Given the description of an element on the screen output the (x, y) to click on. 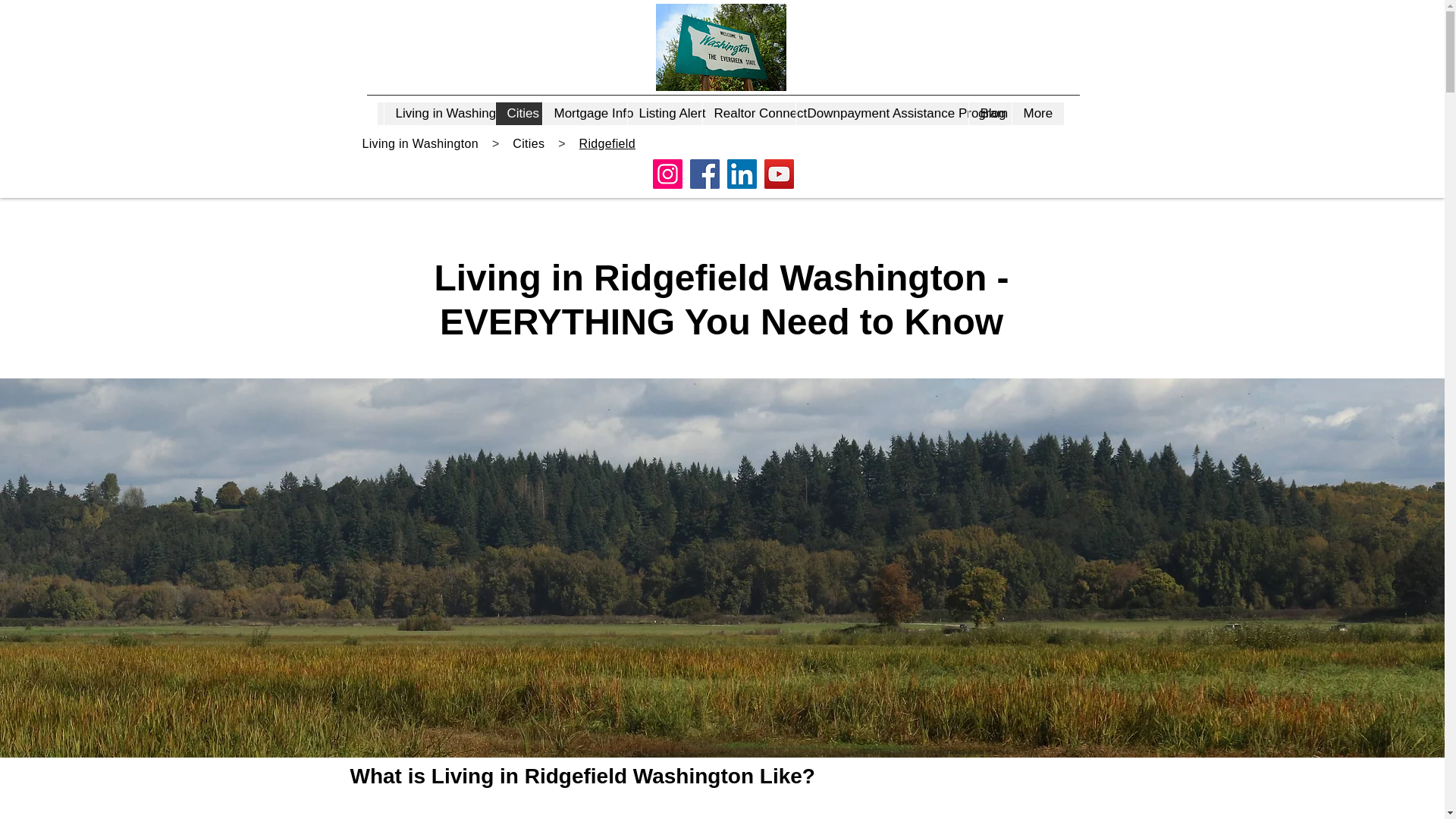
Cities (518, 113)
Welcome to Washington (721, 47)
Living in Washington (439, 113)
